Given the description of an element on the screen output the (x, y) to click on. 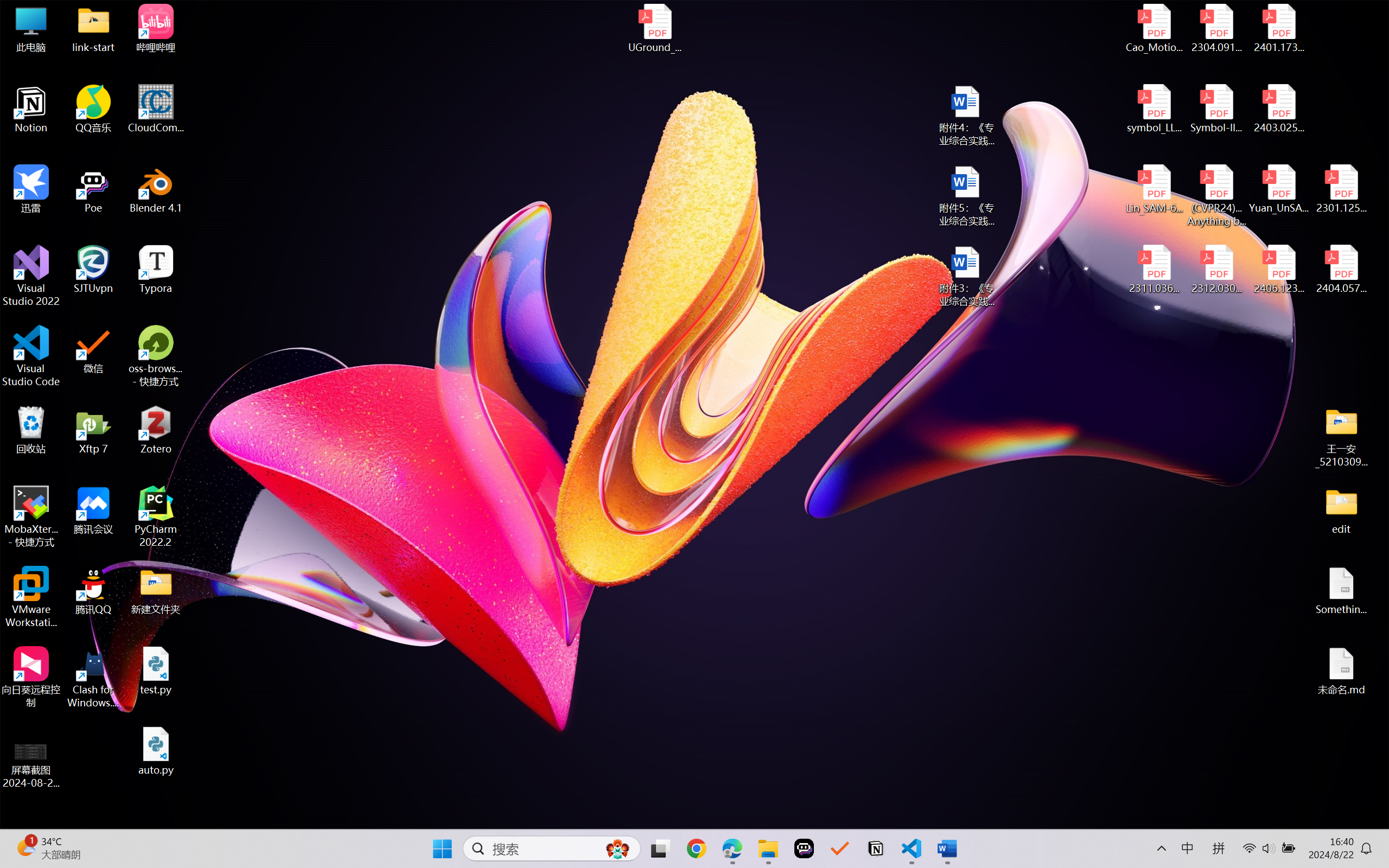
2311.03658v2.pdf (1154, 269)
Poe (804, 848)
Blender 4.1 (156, 189)
Something.md (1340, 591)
Typora (156, 269)
